Given the description of an element on the screen output the (x, y) to click on. 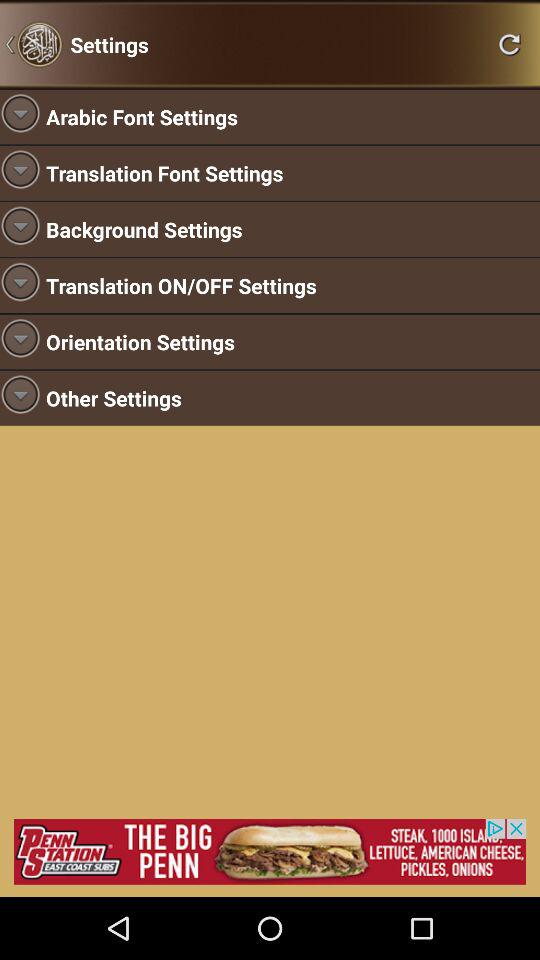
advertising bar (270, 851)
